Given the description of an element on the screen output the (x, y) to click on. 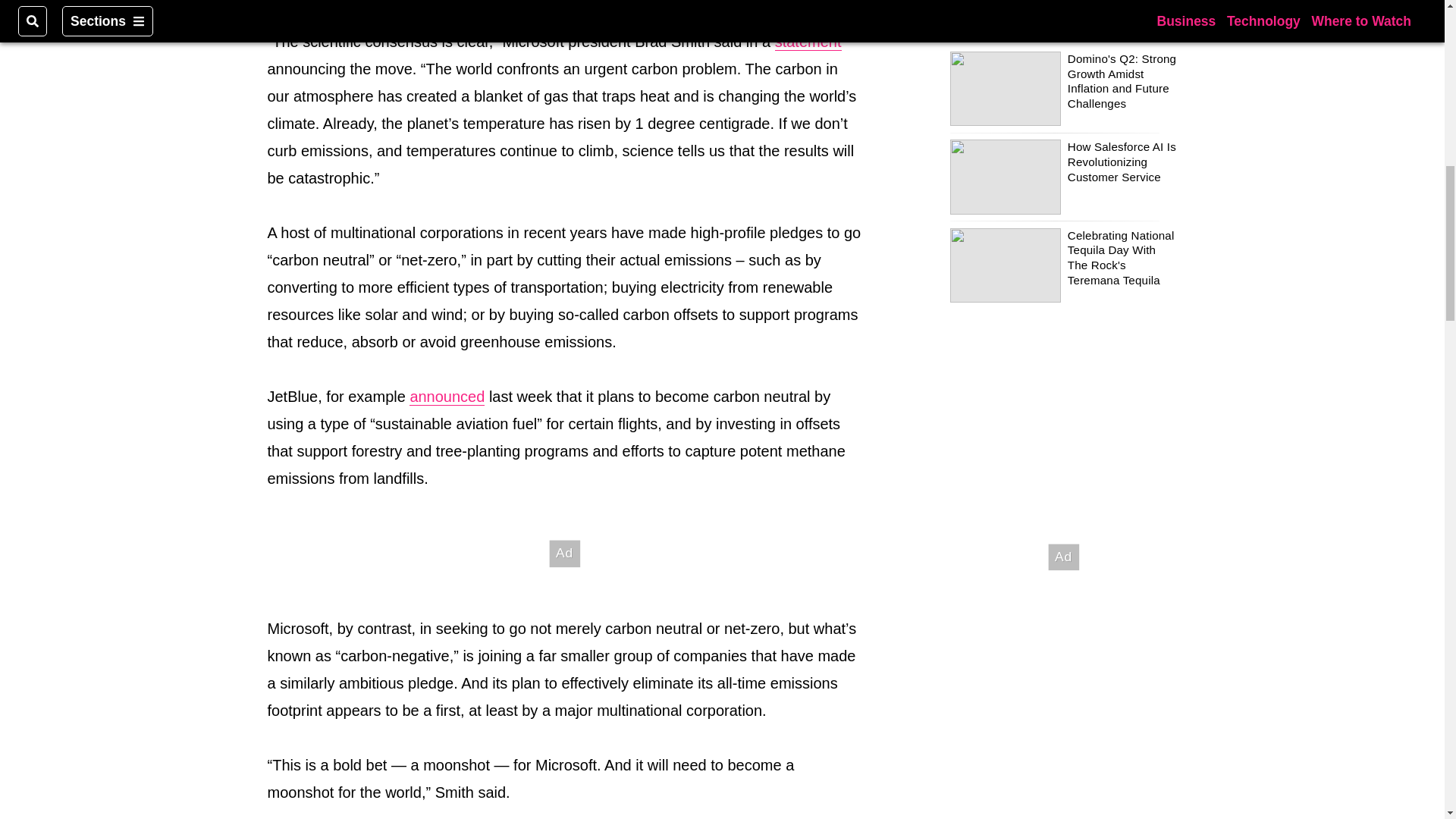
announced (446, 396)
statement (807, 41)
